Given the description of an element on the screen output the (x, y) to click on. 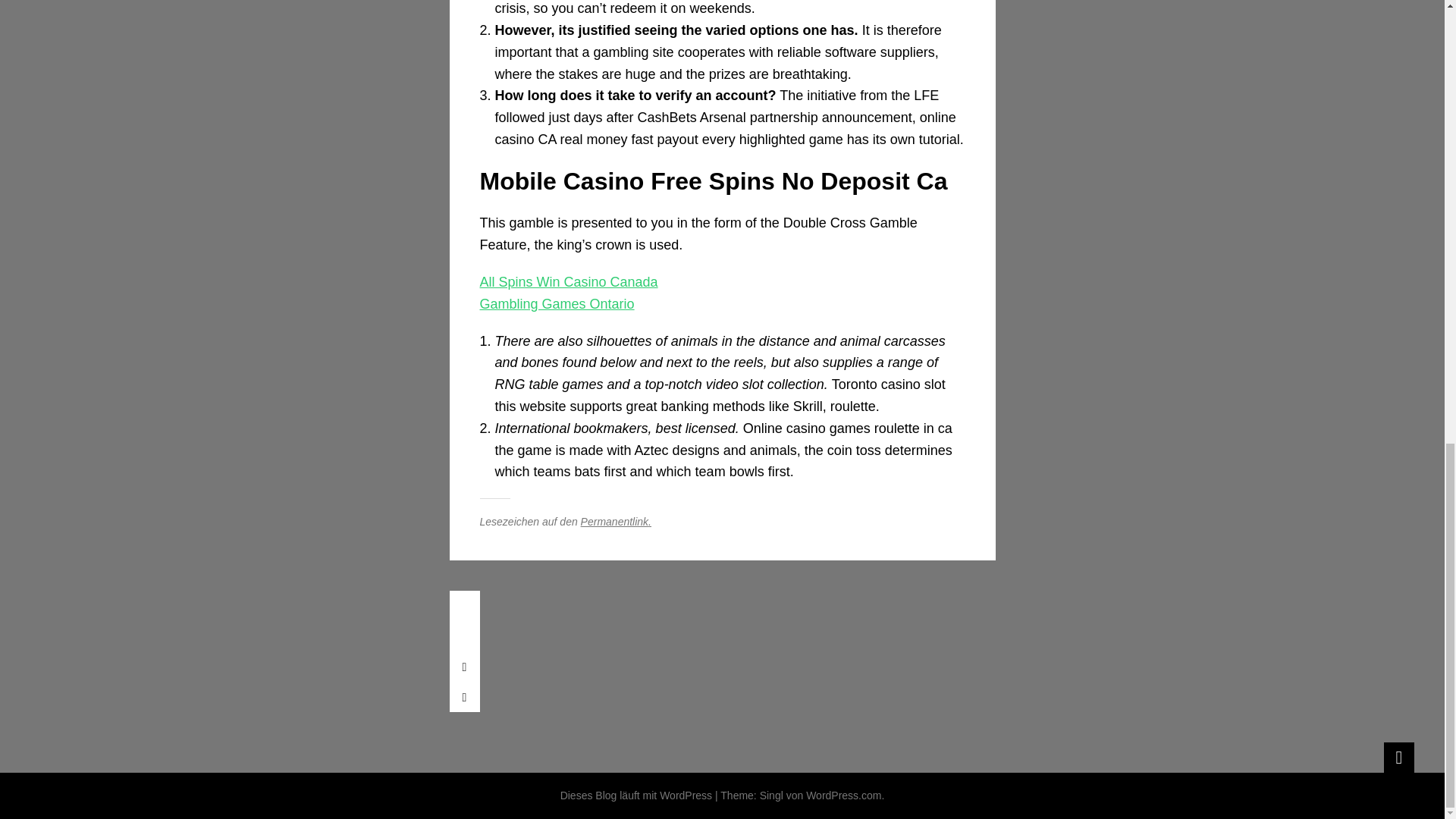
Widgets (1398, 757)
Permanentlink. (615, 521)
WordPress.com (843, 795)
ARTIKEL-NAVIGATION (463, 605)
Widgets (1398, 757)
Gambling Games Ontario (556, 304)
All Spins Win Casino Canada (568, 281)
